Given the description of an element on the screen output the (x, y) to click on. 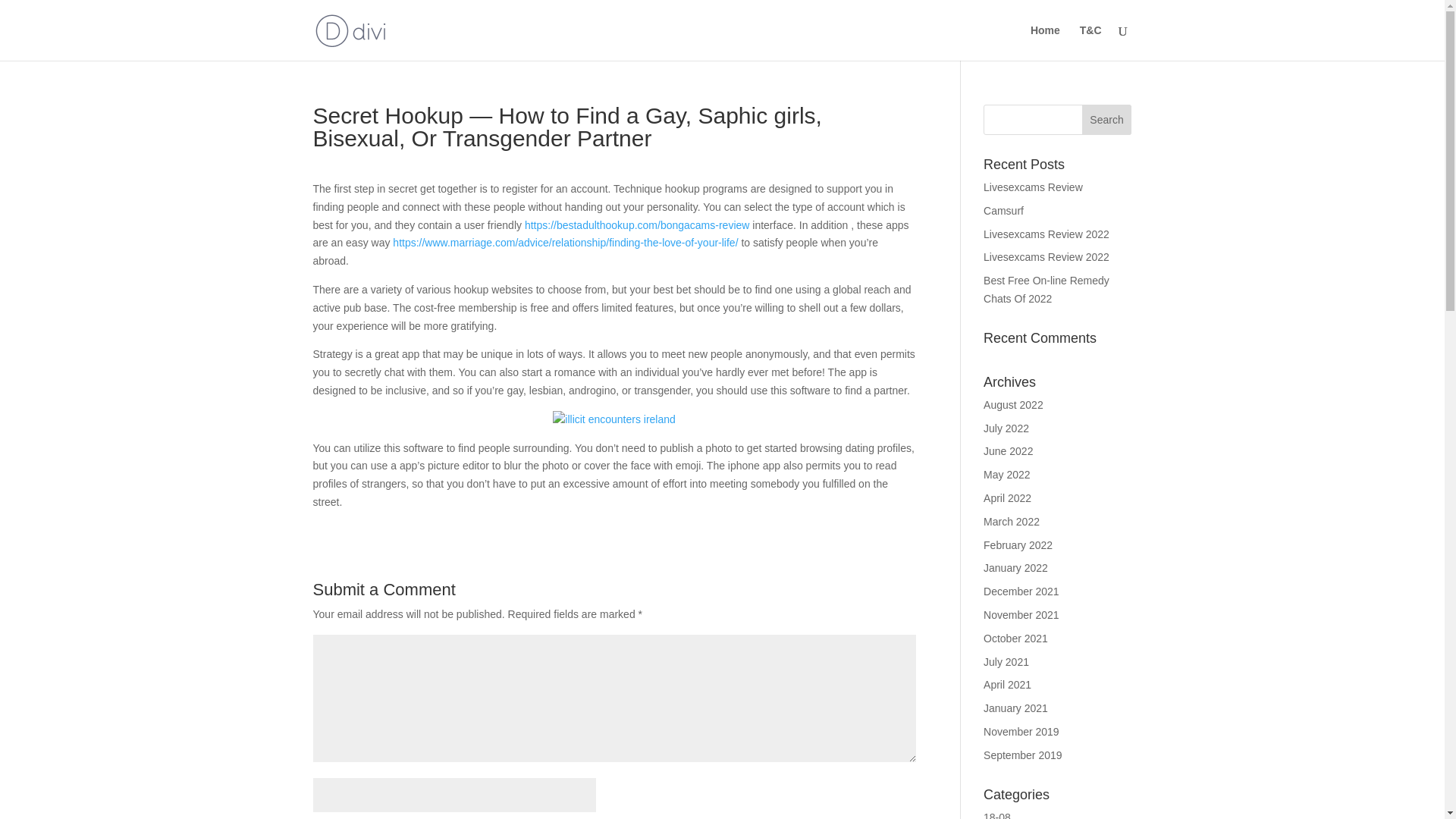
Search (1106, 119)
April 2021 (1007, 684)
March 2022 (1011, 521)
November 2019 (1021, 731)
Best Free On-line Remedy Chats Of 2022 (1046, 289)
October 2021 (1016, 638)
July 2021 (1006, 662)
Camsurf (1003, 210)
Search (1106, 119)
November 2021 (1021, 614)
September 2019 (1023, 755)
January 2021 (1016, 707)
April 2022 (1007, 498)
February 2022 (1018, 544)
Livesexcams Review (1033, 186)
